Given the description of an element on the screen output the (x, y) to click on. 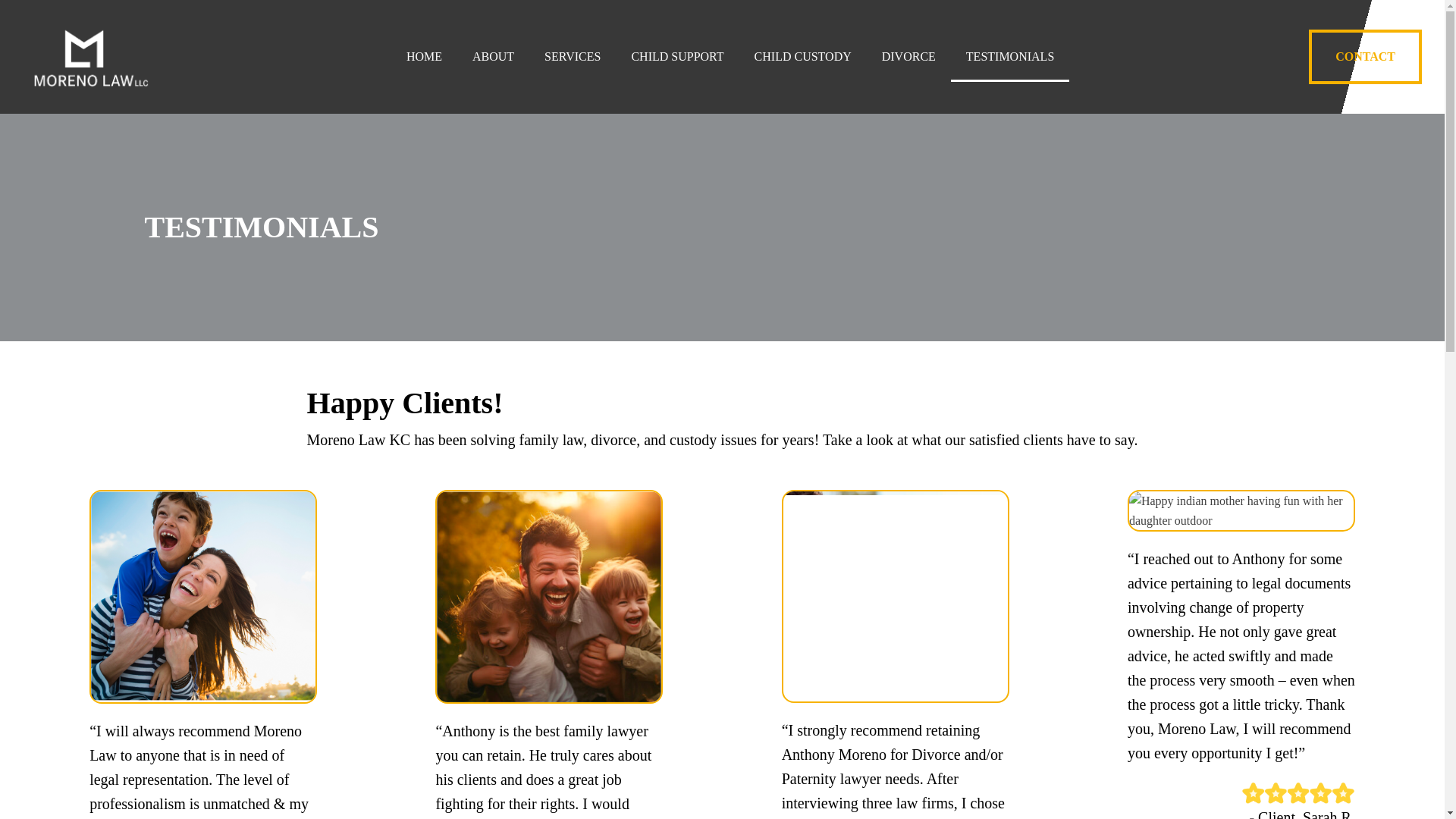
CHILD CUSTODY (802, 56)
CONTACT (1365, 56)
TESTIMONIALS (1009, 56)
SERVICES (572, 56)
ABOUT (493, 56)
CHILD SUPPORT (676, 56)
DIVORCE (908, 56)
HOME (424, 56)
